Given the description of an element on the screen output the (x, y) to click on. 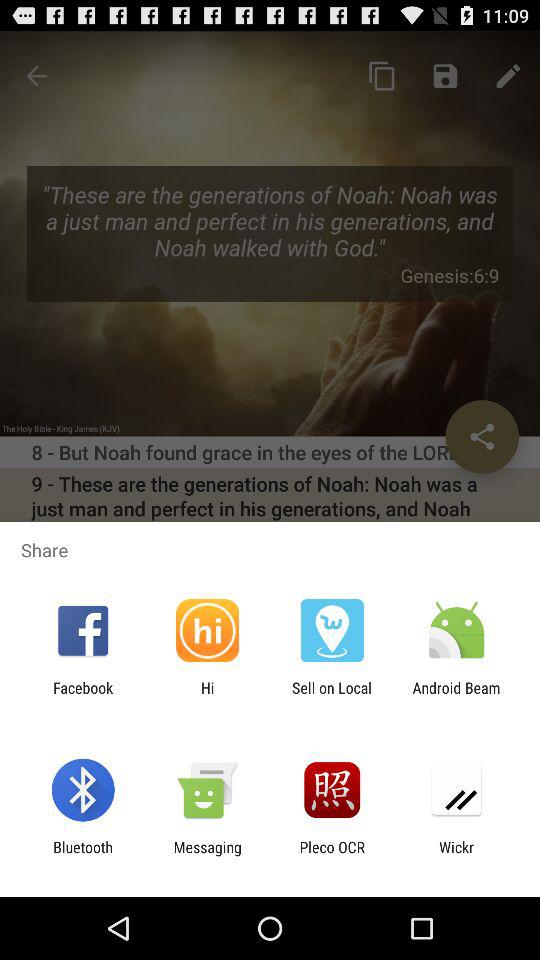
turn on sell on local (332, 696)
